Given the description of an element on the screen output the (x, y) to click on. 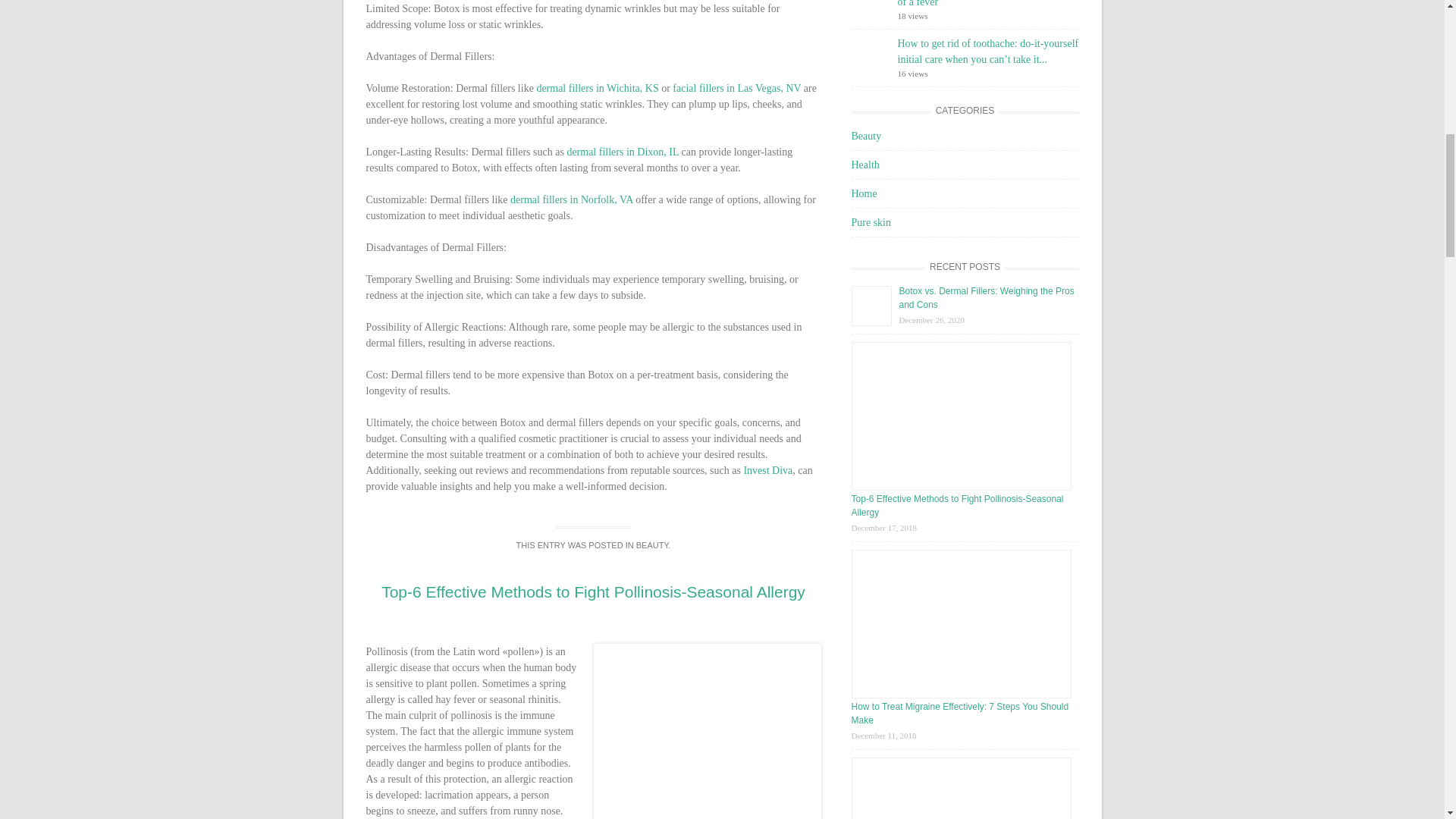
dermal fillers in Dixon, IL (622, 152)
BEAUTY (652, 544)
facial fillers in Las Vegas, NV (736, 88)
dermal fillers in Wichita, KS (596, 88)
Top-6 Effective Methods to Fight Pollinosis-Seasonal Allergy (593, 591)
Invest Diva (767, 470)
dermal fillers in Norfolk, VA (572, 199)
